Given the description of an element on the screen output the (x, y) to click on. 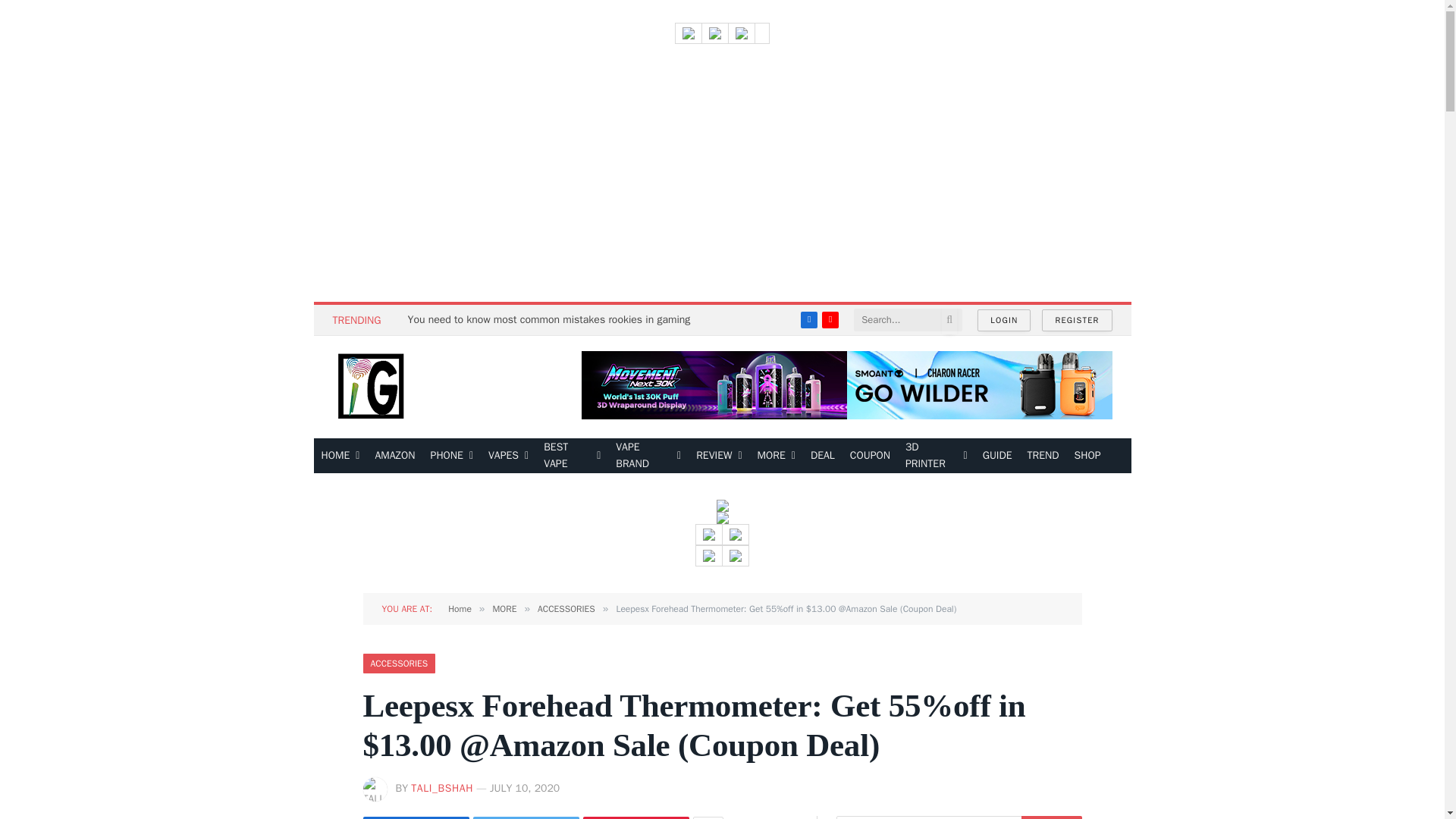
REGISTER (1077, 320)
You need to know most common mistakes rookies in gaming (552, 319)
Share on Twitter (526, 817)
Show More Social Sharing (708, 817)
YouTube (830, 320)
Share on Facebook (415, 817)
AMAZON (394, 455)
Share on Pinterest (635, 817)
PHONE (451, 455)
Search (1051, 817)
Facebook (808, 320)
Search (1051, 817)
LOGIN (1003, 320)
HOME (341, 455)
